Given the description of an element on the screen output the (x, y) to click on. 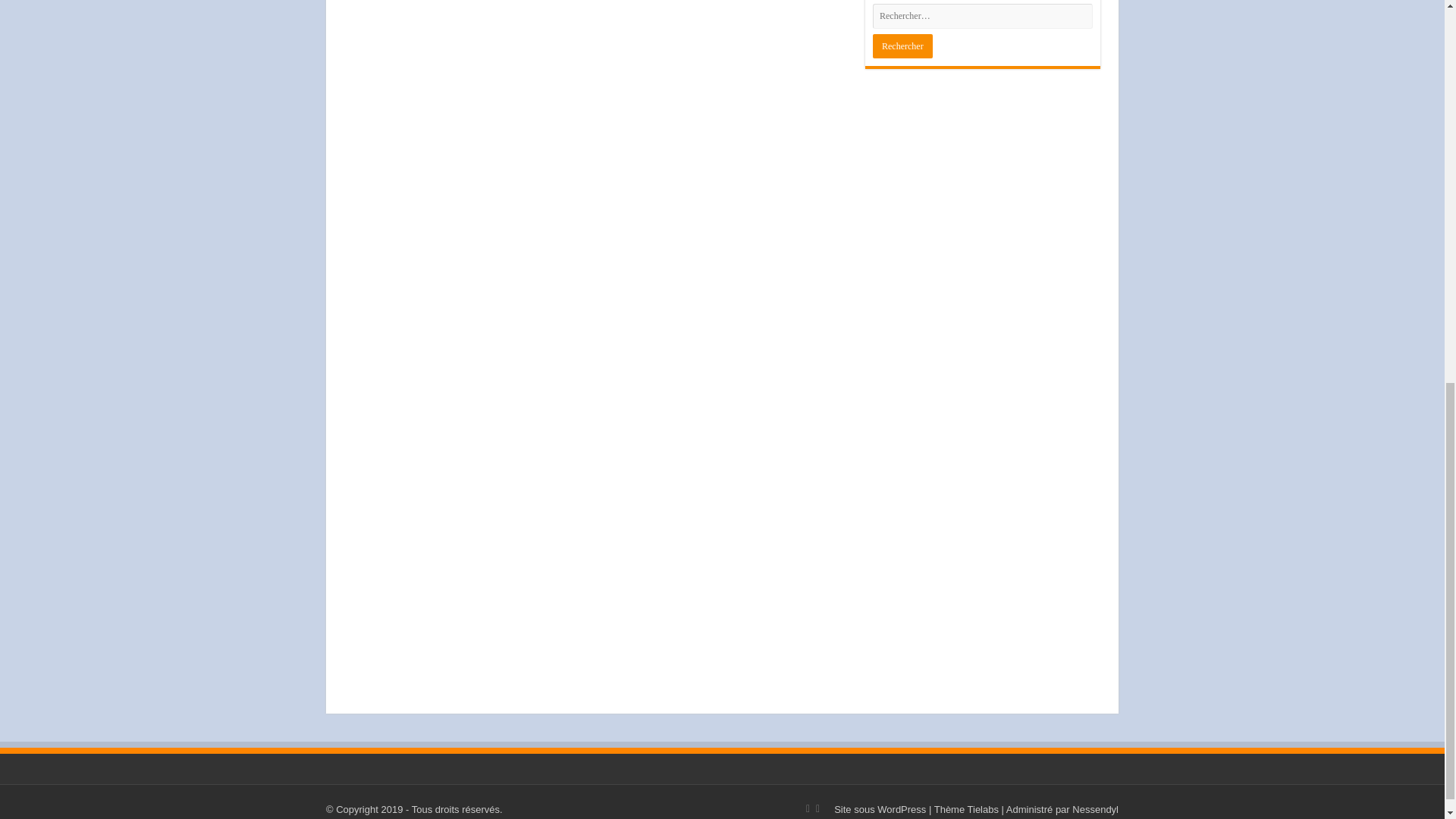
Scroll To Top (1421, 146)
Rechercher (902, 46)
Rechercher (902, 46)
